Given the description of an element on the screen output the (x, y) to click on. 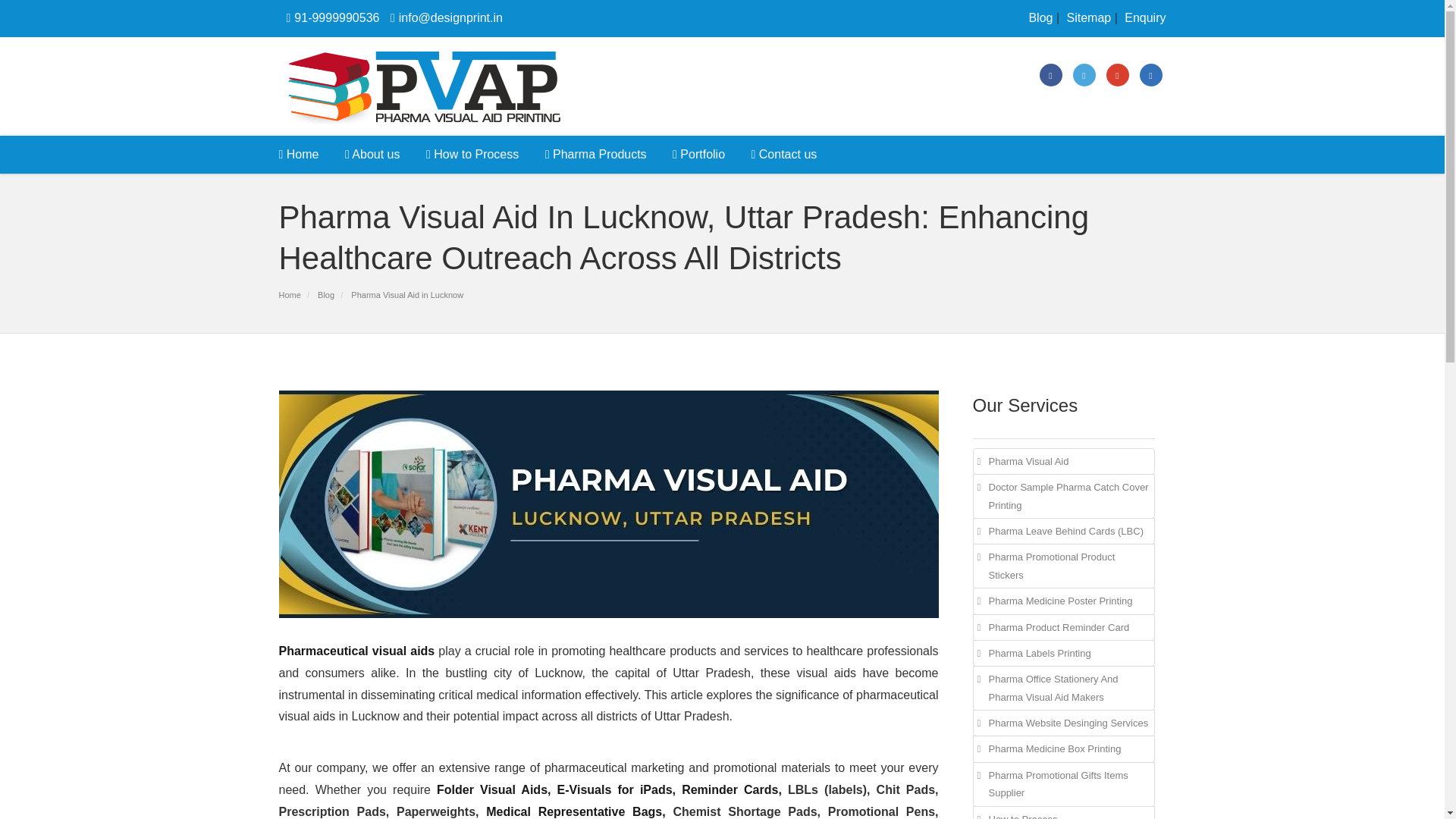
Blog (1038, 17)
Home (304, 154)
Enquiry (1143, 17)
91-9999990536 (329, 17)
How to Process (471, 154)
Pharma Products (596, 154)
About us (372, 154)
Sitemap (1087, 17)
